Given the description of an element on the screen output the (x, y) to click on. 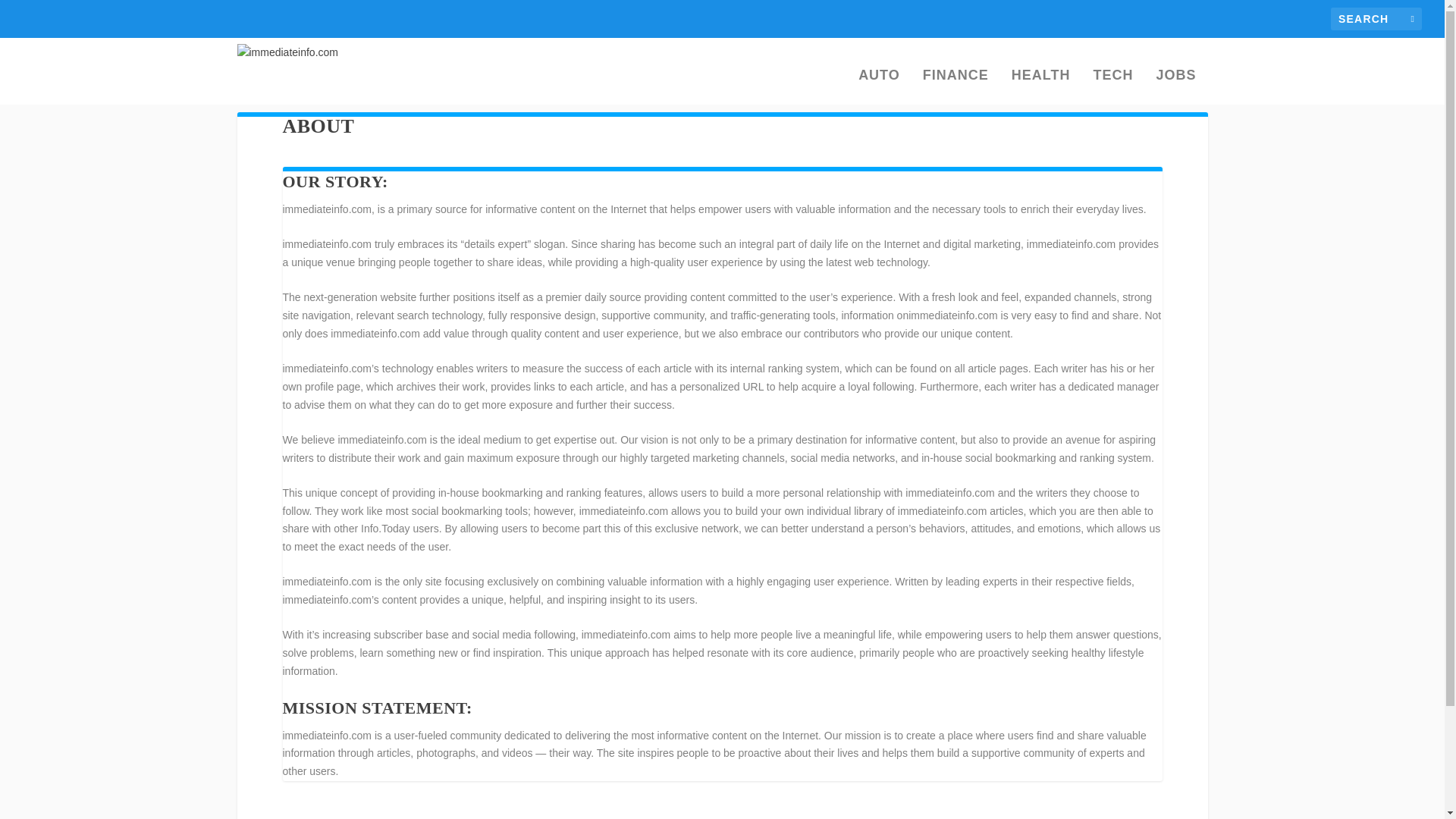
FINANCE (955, 86)
JOBS (1175, 86)
HEALTH (1040, 86)
Search for: (1376, 18)
AUTO (879, 86)
TECH (1112, 86)
